Given the description of an element on the screen output the (x, y) to click on. 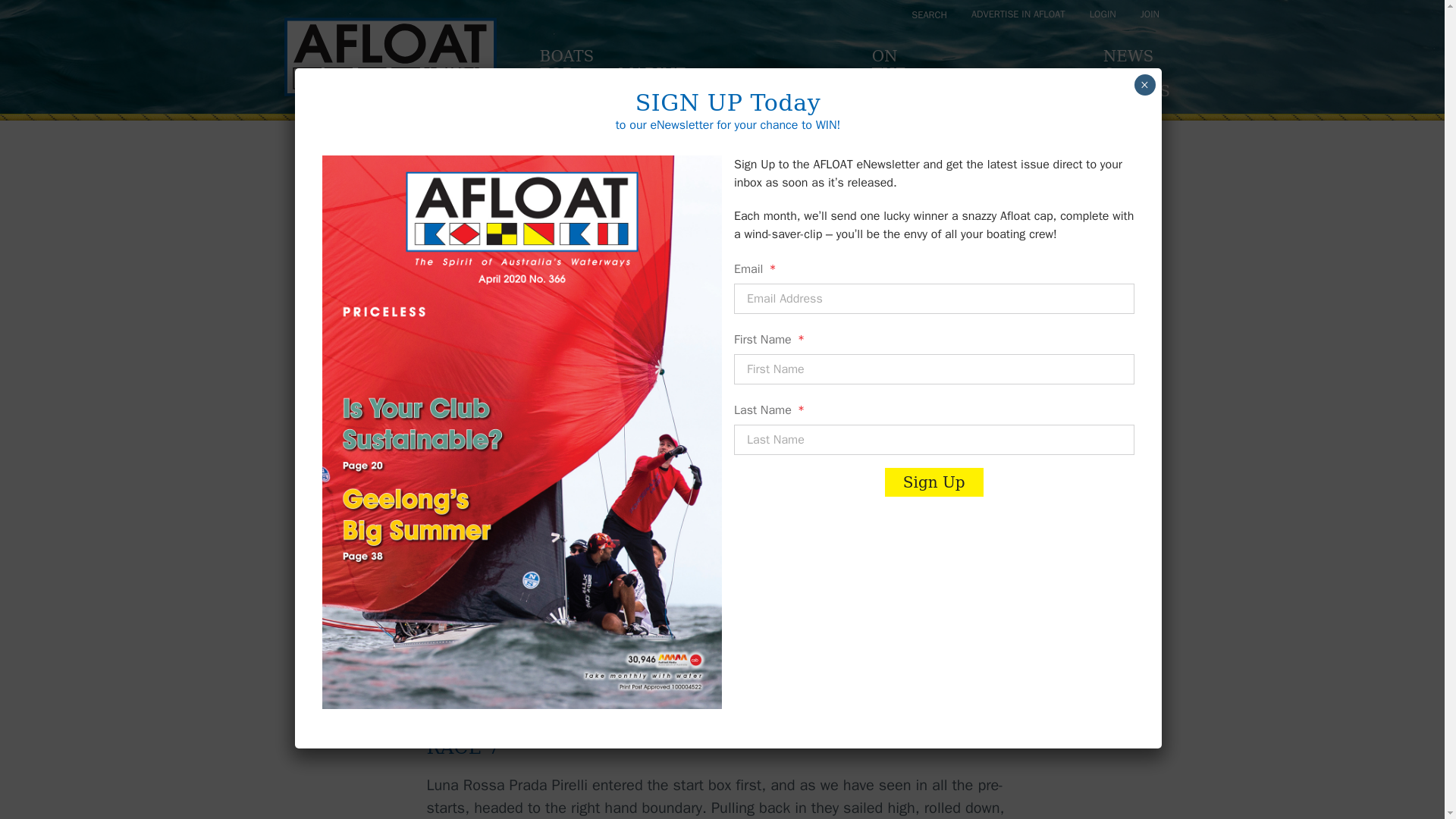
SEARCH (929, 15)
ADVERTISE IN AFLOAT (1018, 14)
DESTINATIONS (1015, 91)
LOGIN (1102, 14)
Sign Up (901, 74)
JOIN (566, 74)
CLASSIFIEDS (665, 83)
